Given the description of an element on the screen output the (x, y) to click on. 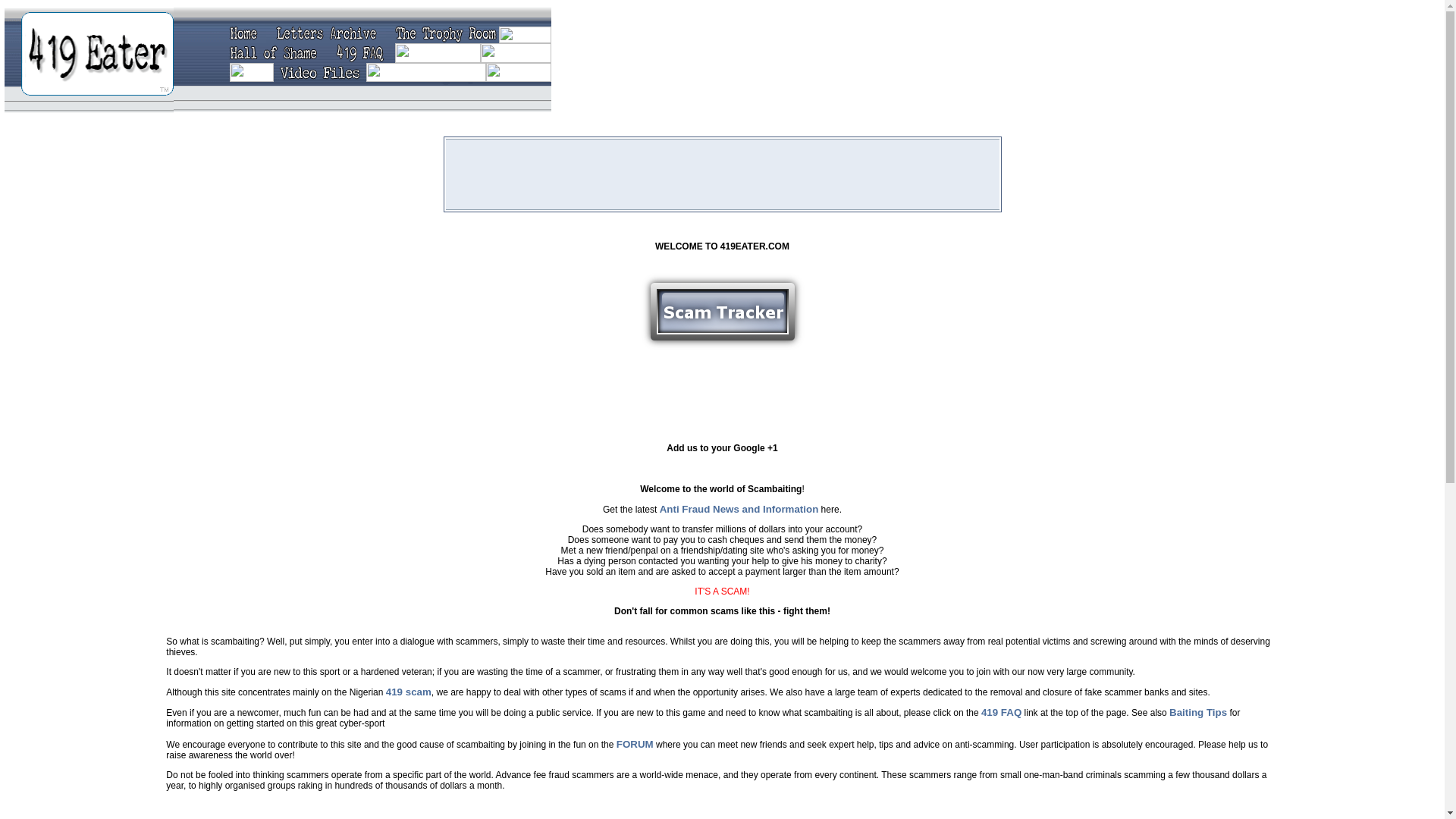
Advertisement Element type: hover (721, 174)
FORUM Element type: text (634, 743)
Anti Fraud News and Information Element type: text (739, 508)
Baiting Tips Element type: text (1197, 712)
419 FAQ Element type: text (1001, 712)
419 scam Element type: text (408, 691)
